Given the description of an element on the screen output the (x, y) to click on. 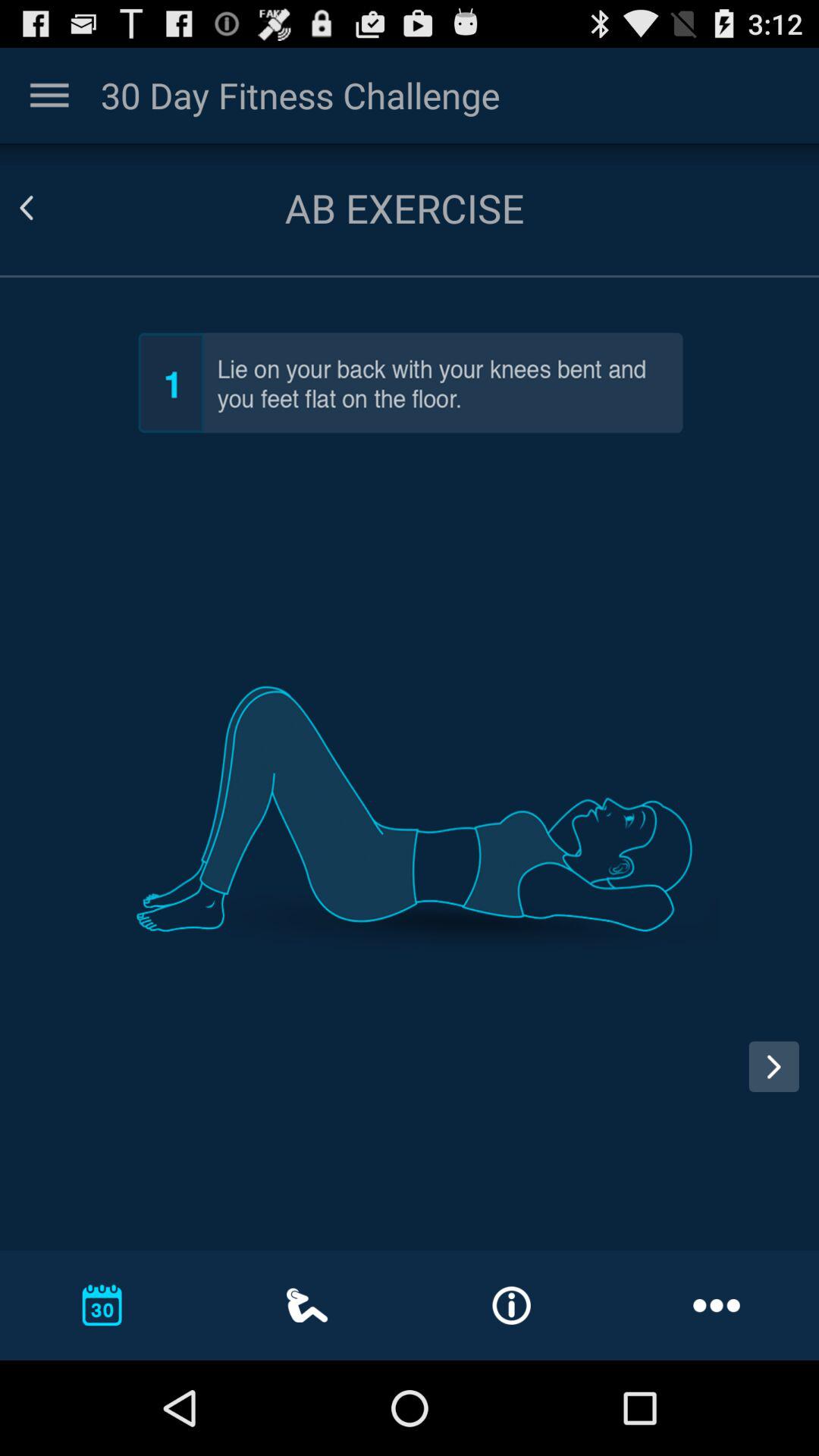
switch next option (779, 1081)
